Given the description of an element on the screen output the (x, y) to click on. 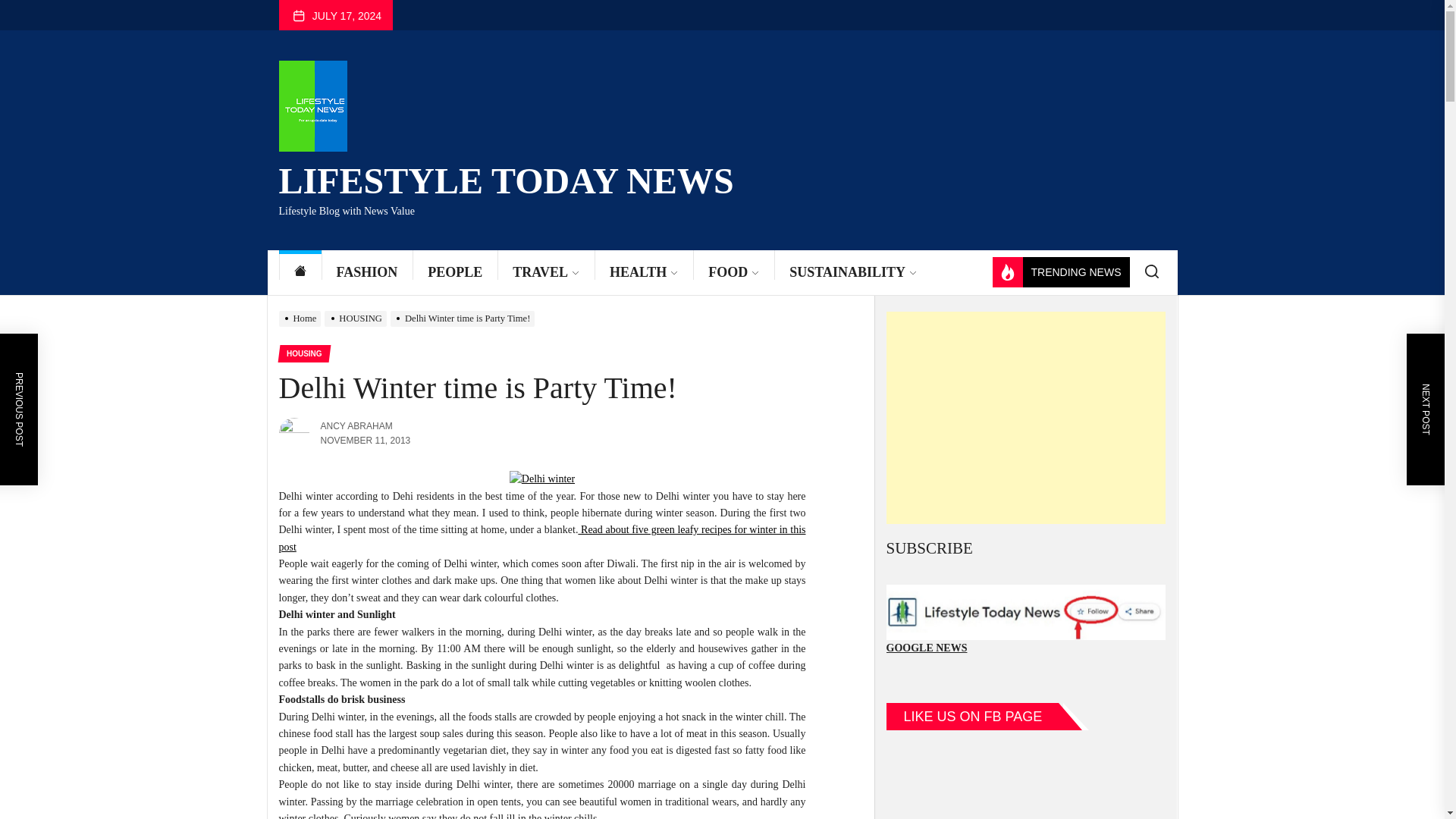
Advertisement (1025, 418)
Home (300, 272)
LIFESTYLE TODAY NEWS (506, 177)
HEALTH (643, 272)
FOOD (733, 272)
PEOPLE (454, 272)
TRAVEL (545, 272)
SUSTAINABILITY (852, 272)
FASHION (367, 272)
TRENDING NEWS (1060, 272)
